Given the description of an element on the screen output the (x, y) to click on. 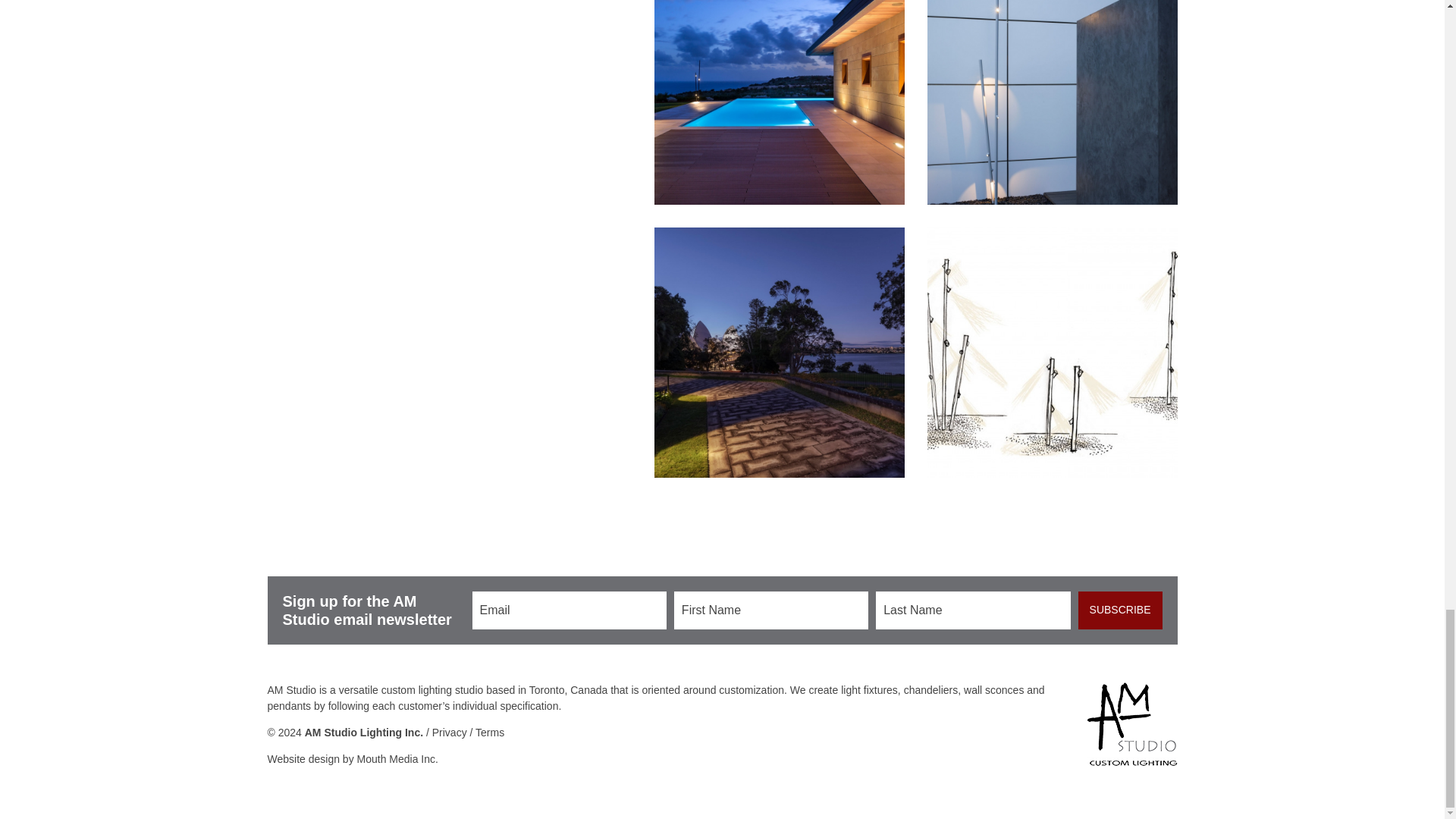
Subscribe (1119, 610)
